Given the description of an element on the screen output the (x, y) to click on. 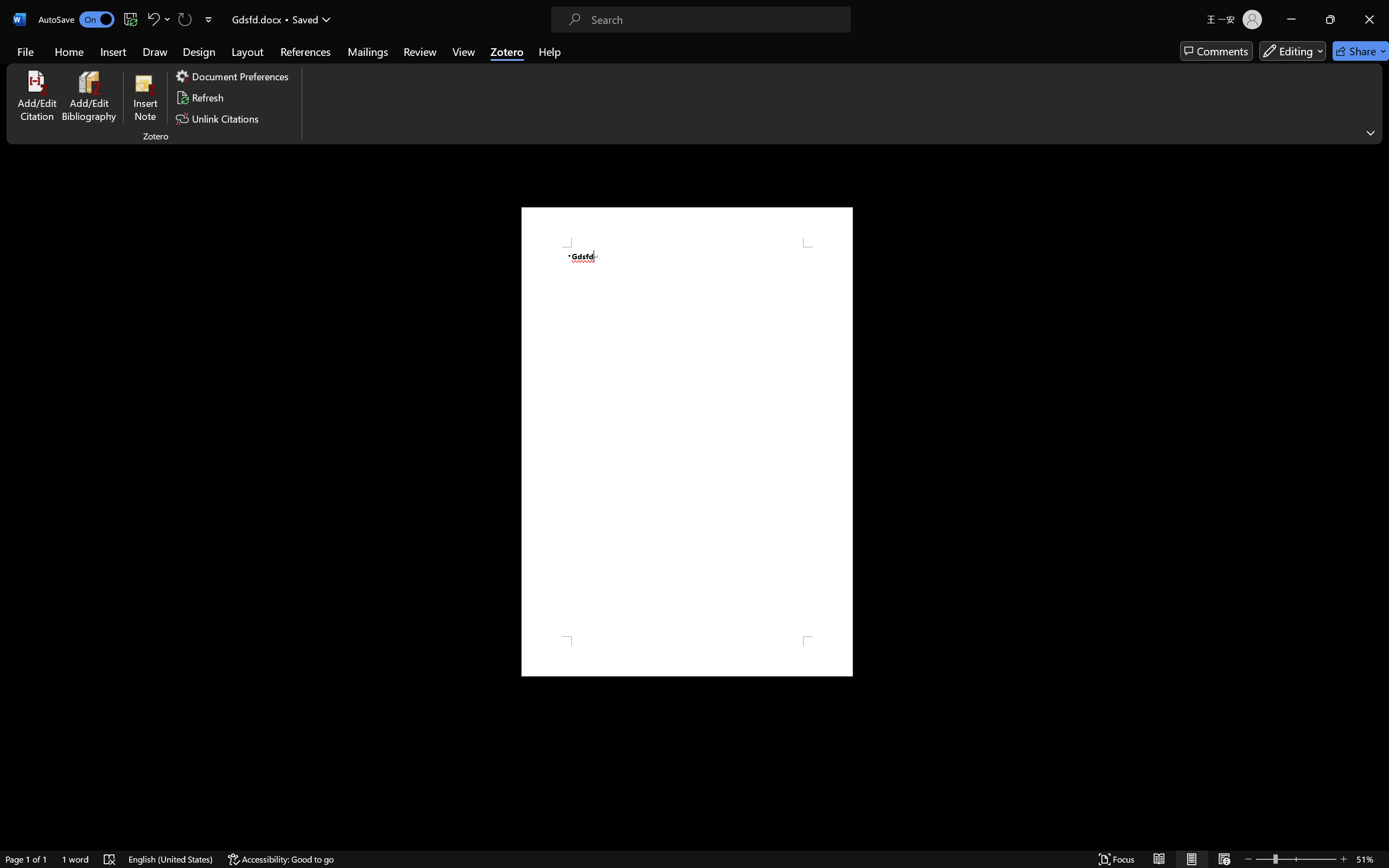
Page 1 content (686, 441)
